Given the description of an element on the screen output the (x, y) to click on. 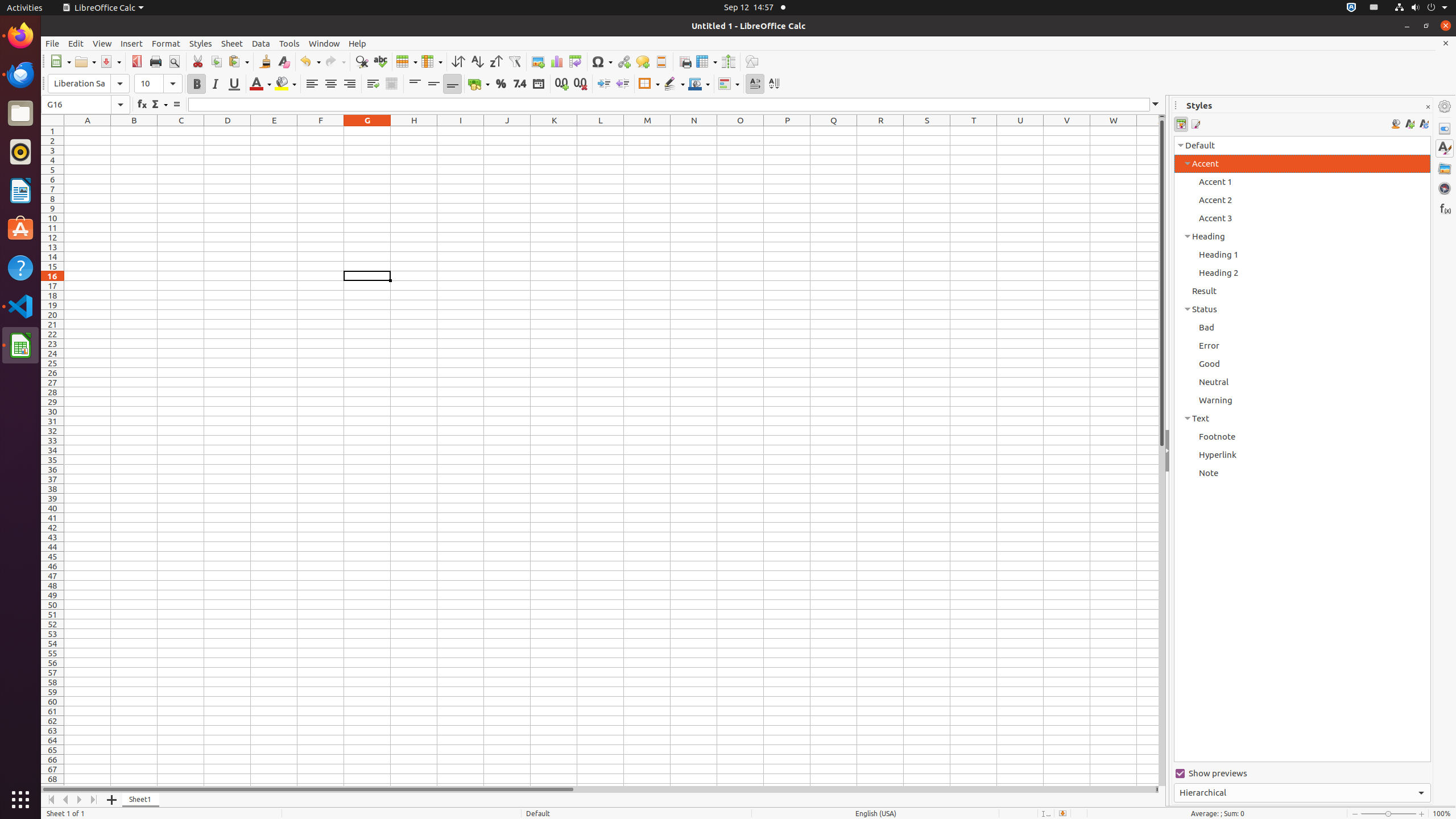
Move To Home Element type: push-button (51, 799)
L1 Element type: table-cell (600, 130)
Clone Element type: push-button (264, 61)
New Element type: push-button (59, 61)
H1 Element type: table-cell (413, 130)
